Given the description of an element on the screen output the (x, y) to click on. 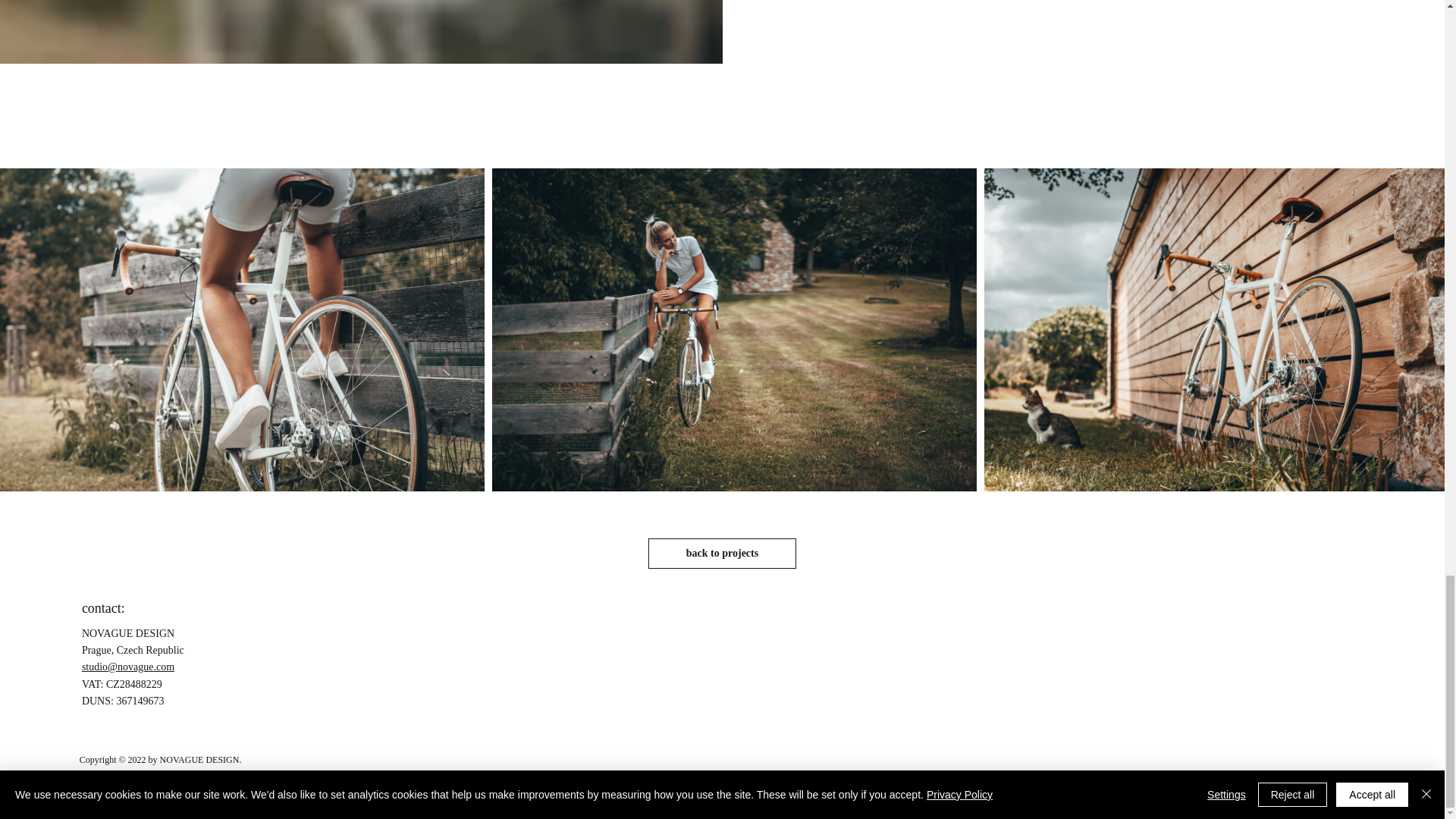
back to projects (720, 553)
